Given the description of an element on the screen output the (x, y) to click on. 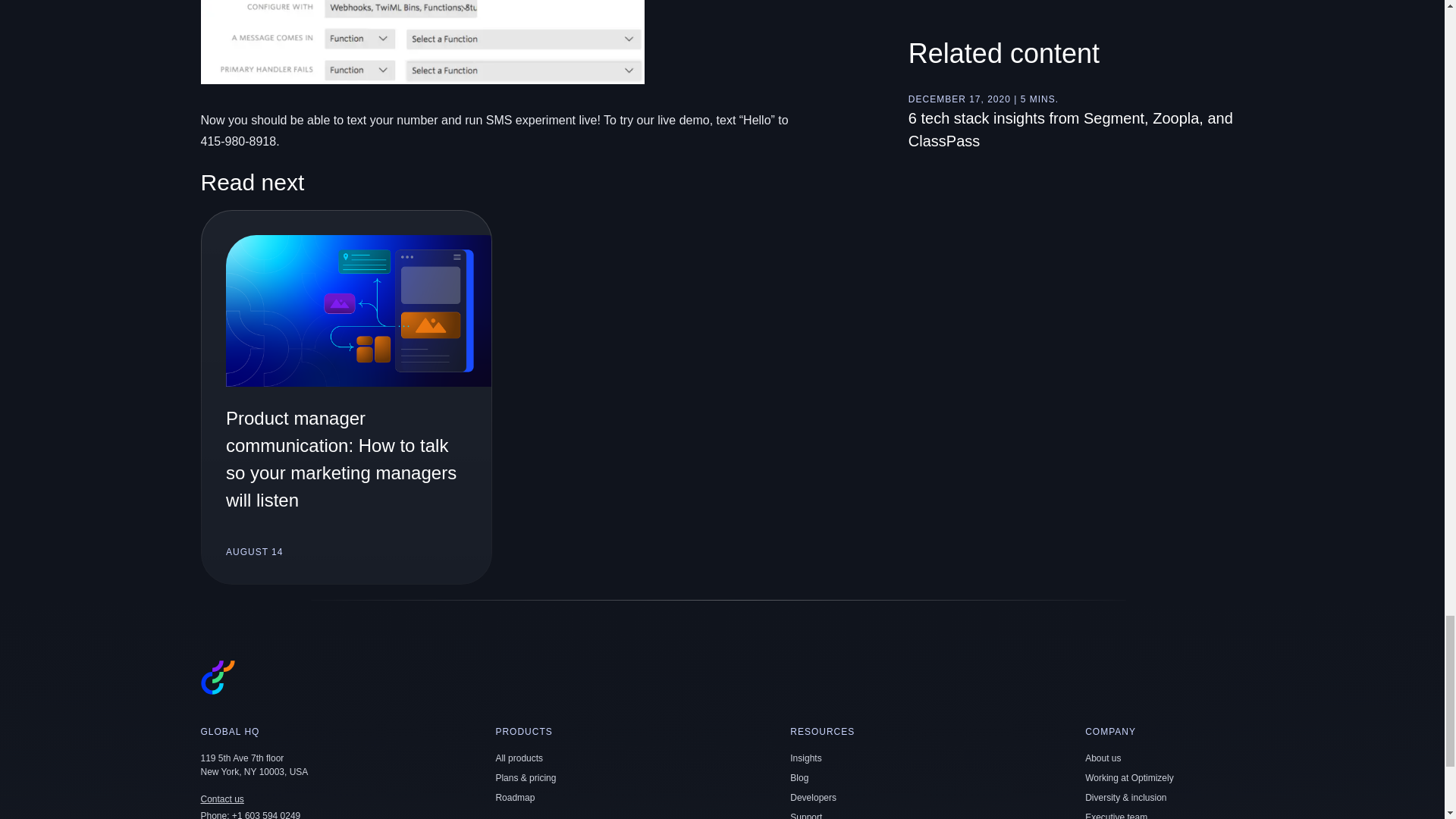
Executive team (1115, 815)
Contact us (221, 798)
Blog (799, 777)
Roadmap (514, 797)
Developers (812, 797)
About us (1102, 757)
Insights (805, 757)
All products (519, 757)
Working at Optimizely (1128, 777)
Contact us (221, 798)
